Given the description of an element on the screen output the (x, y) to click on. 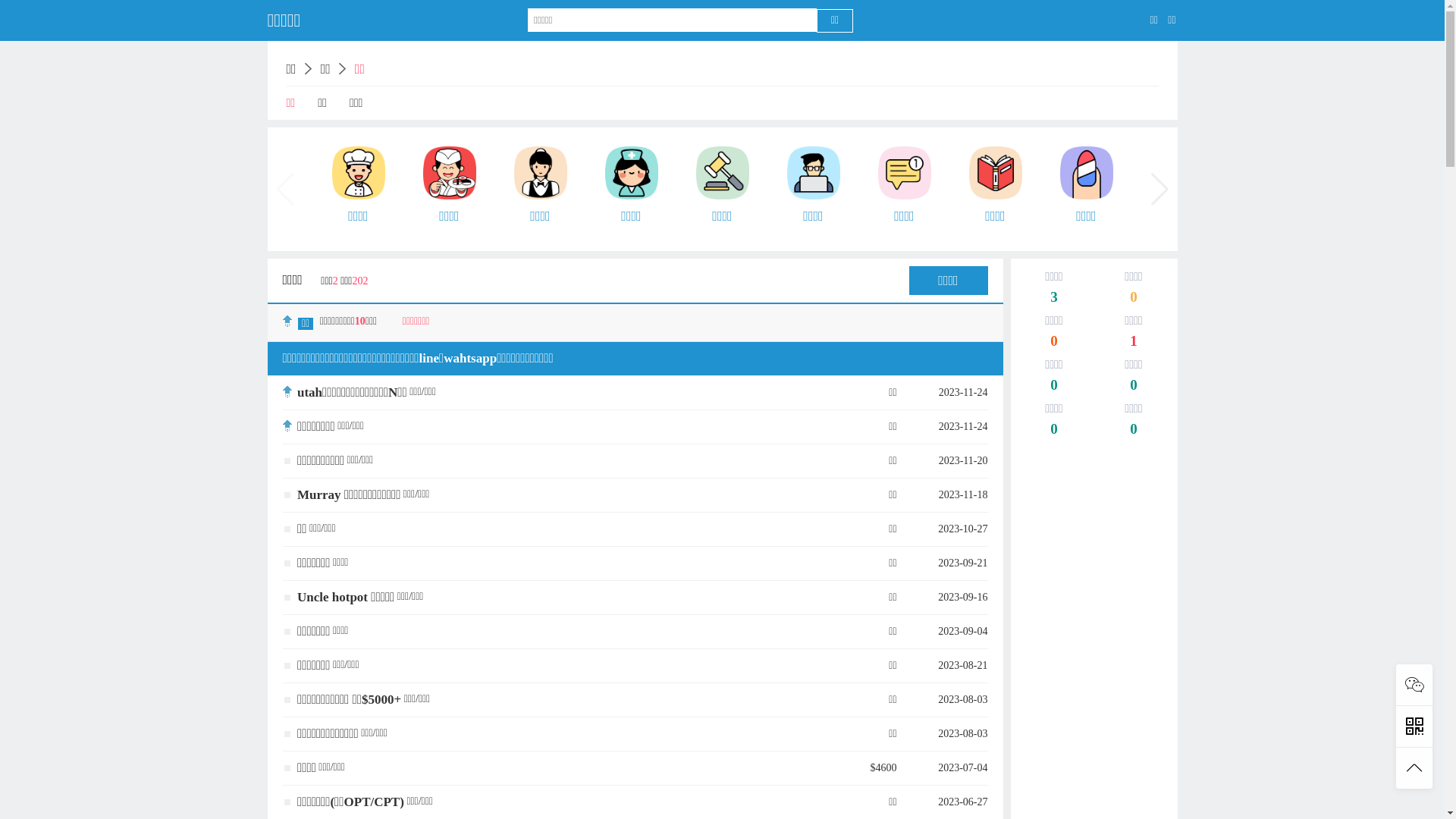
0 Element type: text (1053, 386)
0 Element type: text (1053, 342)
Advertisement Element type: hover (1093, 688)
Advertisement Element type: hover (1093, 529)
3 Element type: text (1053, 298)
0 Element type: text (1133, 386)
0 Element type: text (1053, 430)
0 Element type: text (1133, 298)
1 Element type: text (1133, 342)
0 Element type: text (1133, 430)
